Given the description of an element on the screen output the (x, y) to click on. 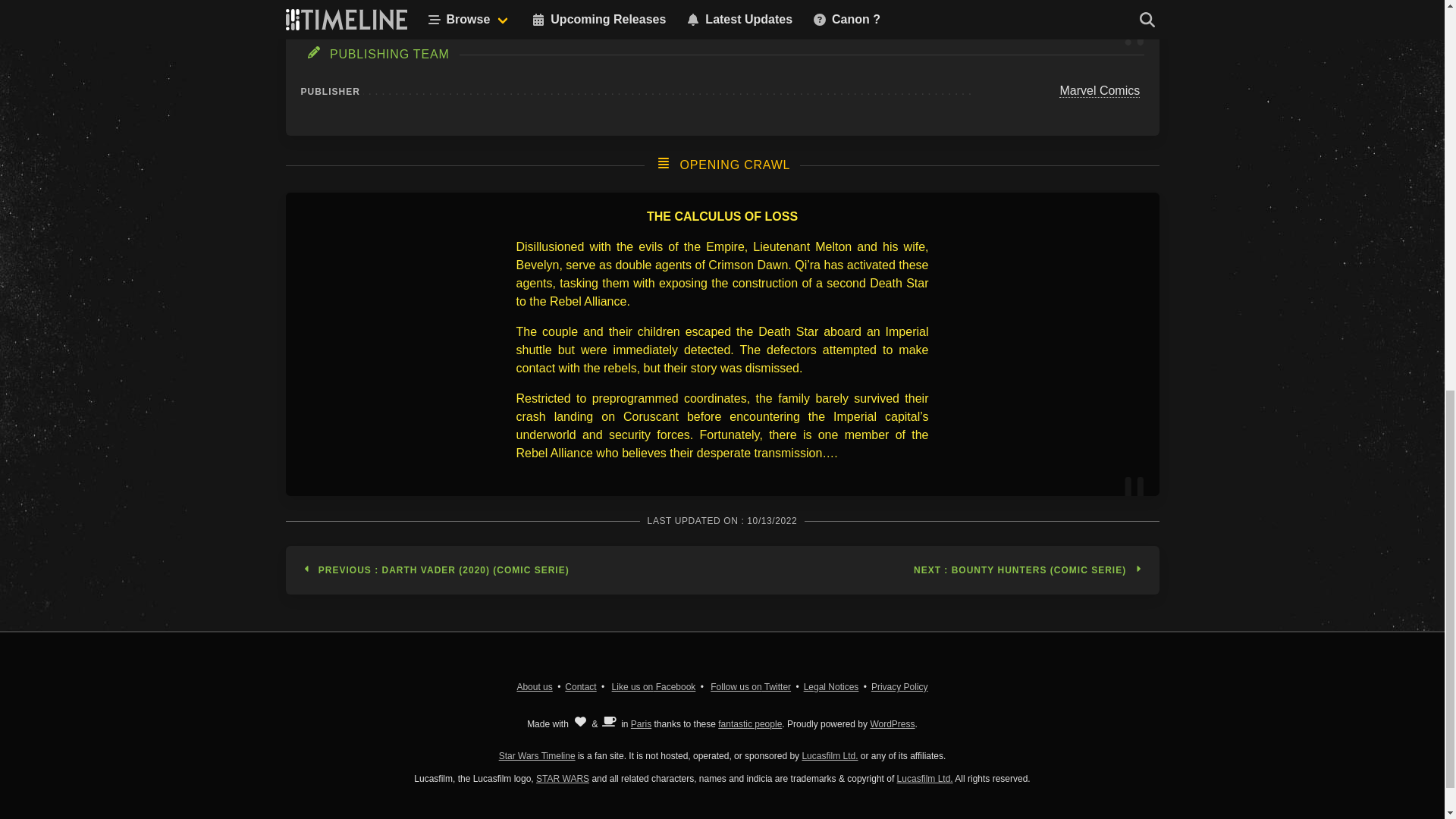
Paris (640, 723)
About us (533, 686)
WordPress (891, 723)
Legal Notices (831, 686)
Contact (579, 686)
fantastic people (749, 723)
Like us on Facebook (653, 686)
Privacy Policy (899, 686)
Follow us on Twitter (750, 686)
Marvel Comics (1099, 90)
